Given the description of an element on the screen output the (x, y) to click on. 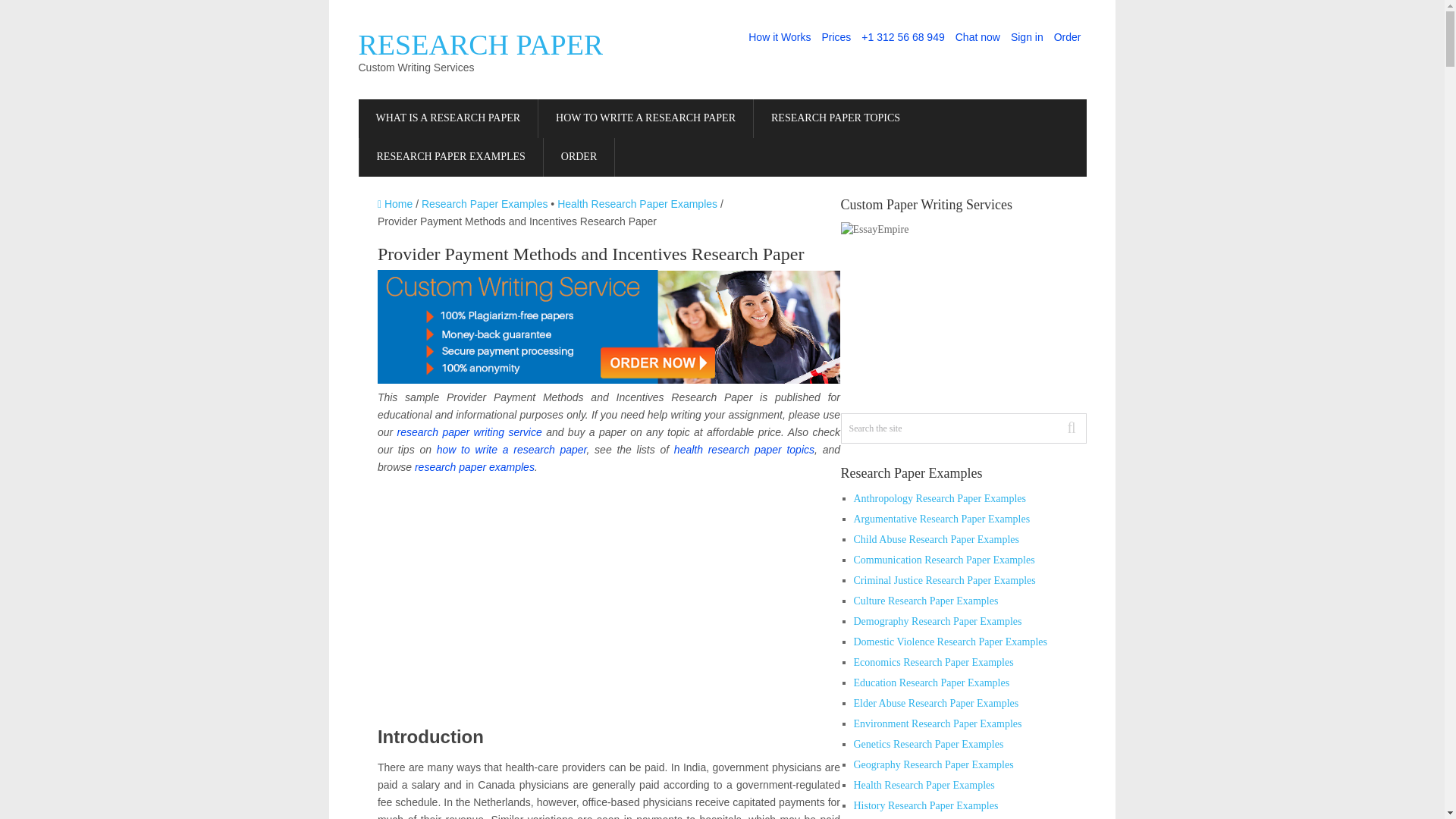
Sign in (1027, 37)
how to write a research paper (511, 449)
research paper writing service (469, 431)
WHAT IS A RESEARCH PAPER (447, 118)
Research Paper Examples (485, 203)
Anthropology Research Paper Examples (939, 498)
RESEARCH PAPER TOPICS (835, 118)
RESEARCH PAPER (480, 44)
HOW TO WRITE A RESEARCH PAPER (645, 118)
Argumentative Research Paper Examples (941, 518)
